Given the description of an element on the screen output the (x, y) to click on. 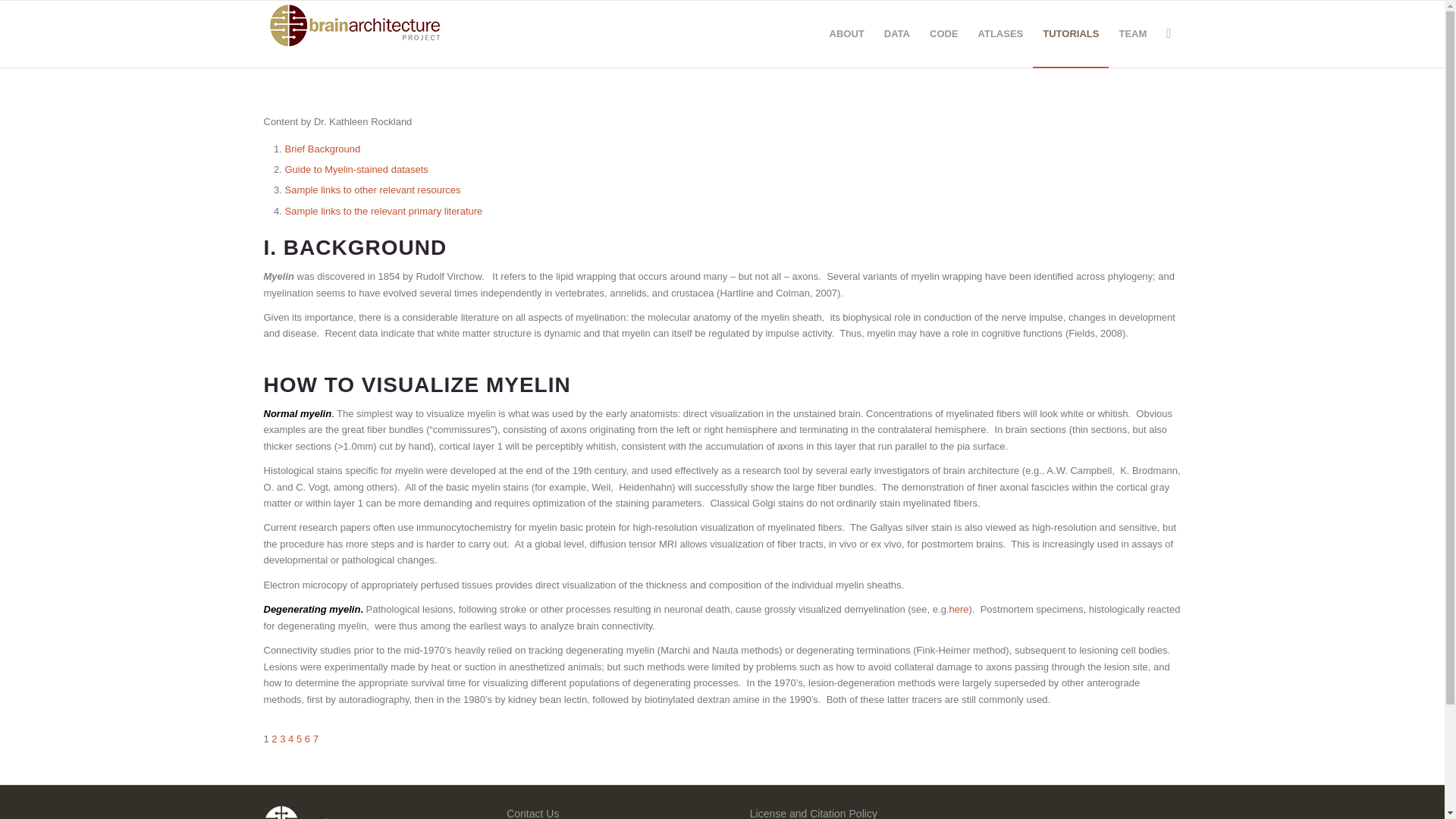
ATLASES (1000, 33)
Brief Background (323, 148)
TUTORIALS (1070, 33)
Demyelination (958, 609)
